Given the description of an element on the screen output the (x, y) to click on. 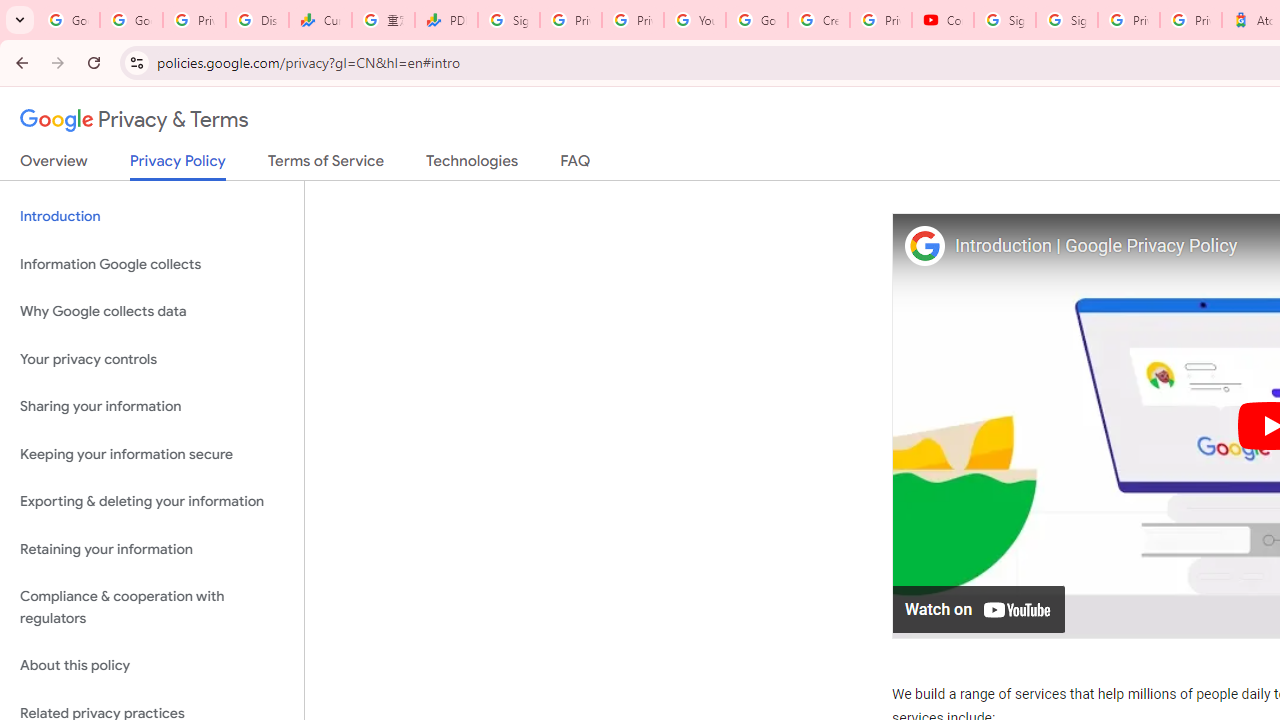
Technologies (472, 165)
Watch on YouTube (979, 608)
Terms of Service (326, 165)
YouTube (694, 20)
Overview (54, 165)
Privacy & Terms (134, 120)
Privacy Checkup (632, 20)
PDD Holdings Inc - ADR (PDD) Price & News - Google Finance (445, 20)
